Given the description of an element on the screen output the (x, y) to click on. 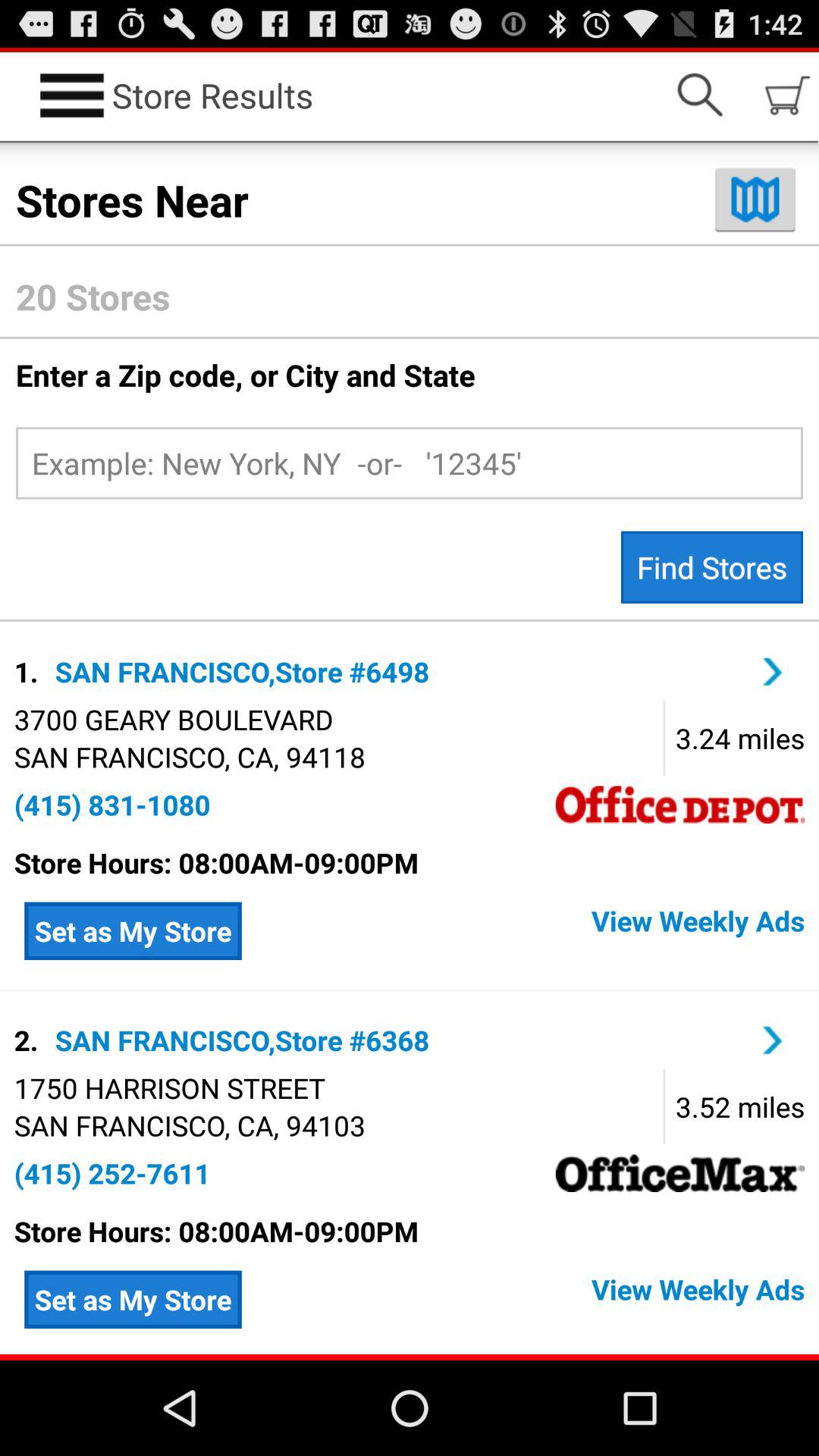
press 20 stores icon (409, 296)
